Given the description of an element on the screen output the (x, y) to click on. 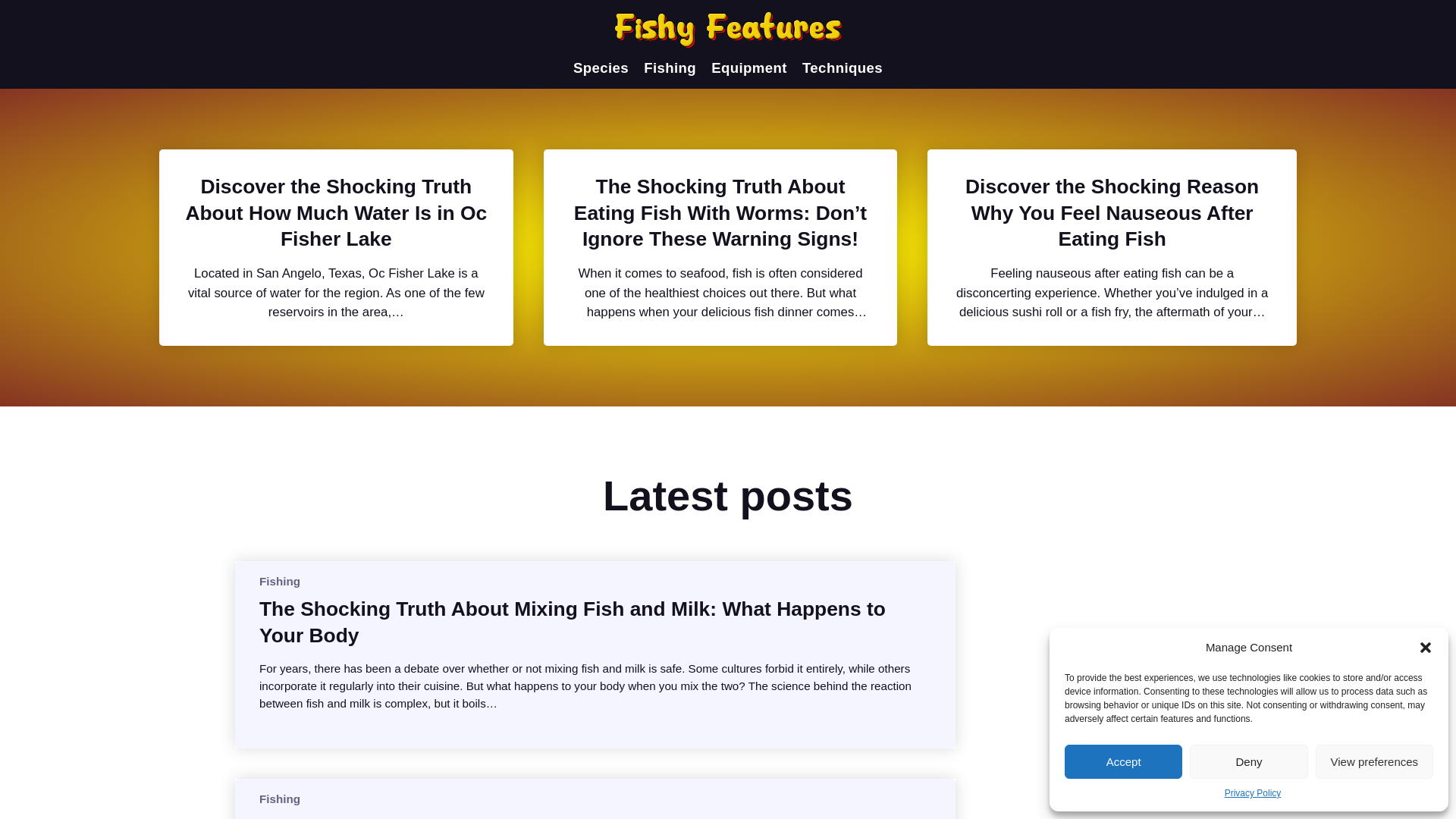
Fishing (279, 581)
Privacy Policy (1252, 793)
Fishing (279, 798)
Species (600, 67)
Deny (1248, 761)
Accept (1123, 761)
View preferences (1374, 761)
Fishing (669, 67)
Techniques (842, 67)
Equipment (749, 67)
